Given the description of an element on the screen output the (x, y) to click on. 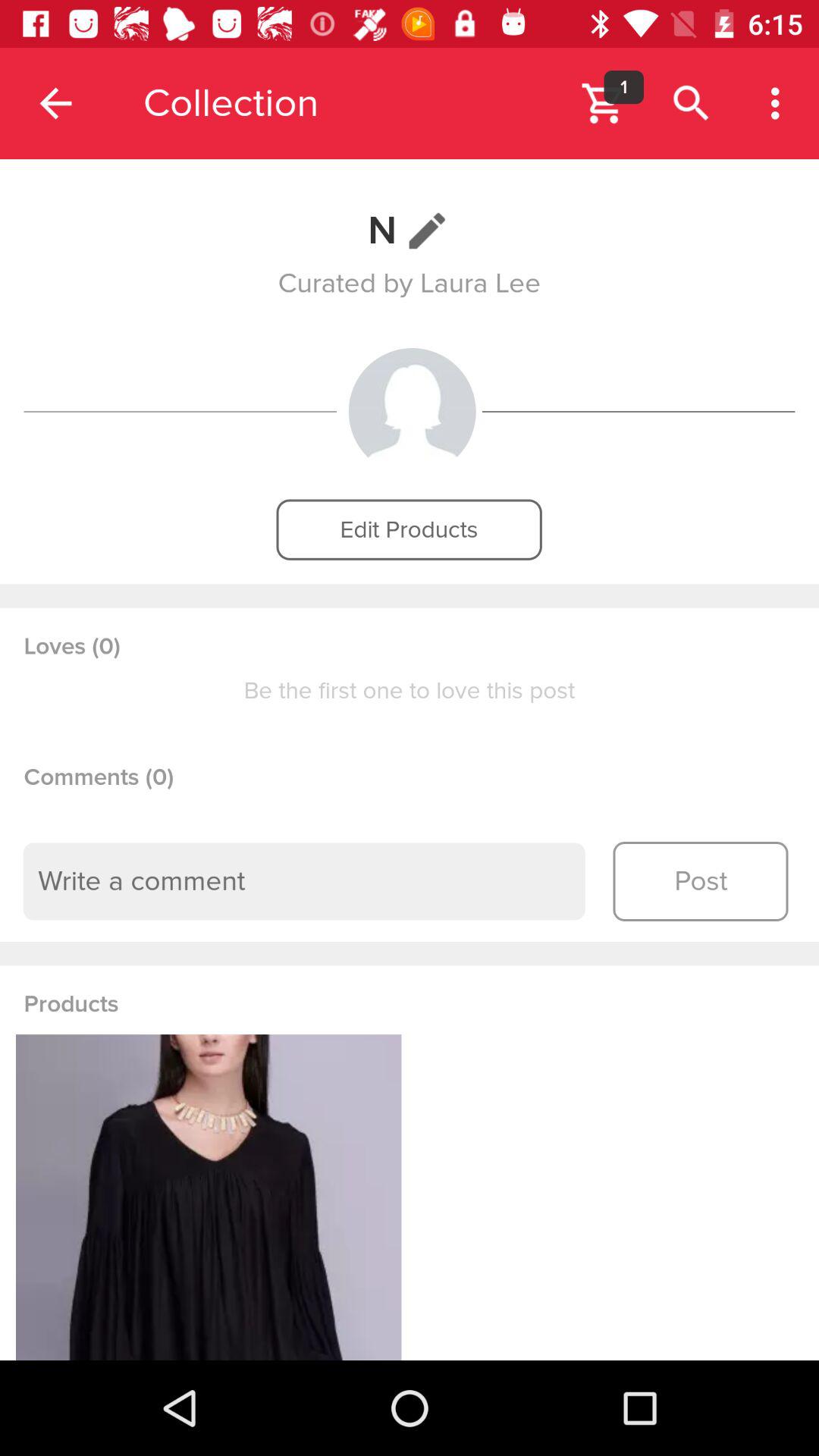
swipe to 1 (623, 87)
